Given the description of an element on the screen output the (x, y) to click on. 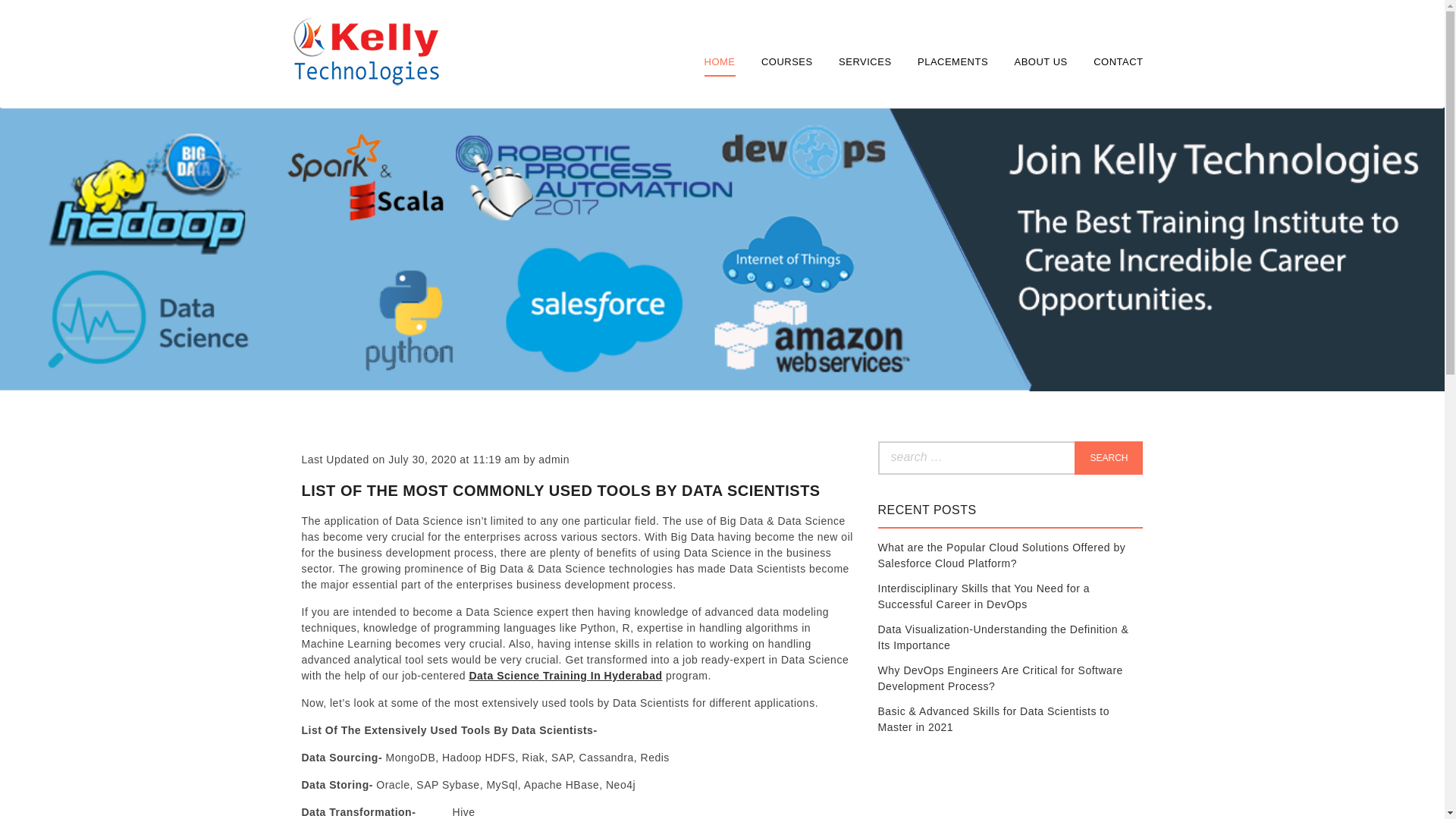
Search (1108, 458)
Search (1108, 458)
PLACEMENTS (952, 61)
BLOG KELLY TECHNOLOGIES (364, 123)
Data Science Training In Hyderabad (565, 675)
